Given the description of an element on the screen output the (x, y) to click on. 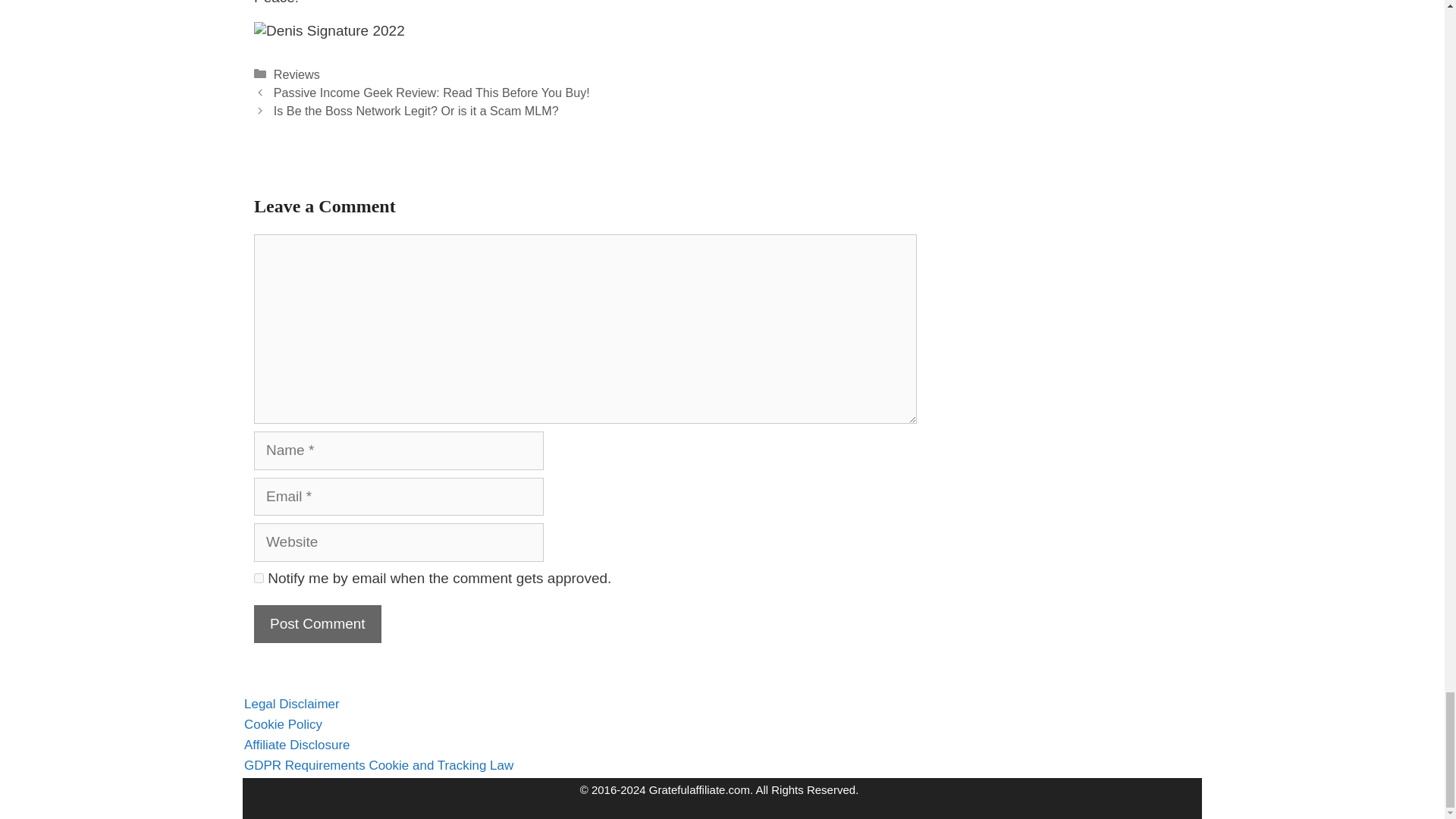
Post Comment (317, 624)
1 (258, 578)
